Given the description of an element on the screen output the (x, y) to click on. 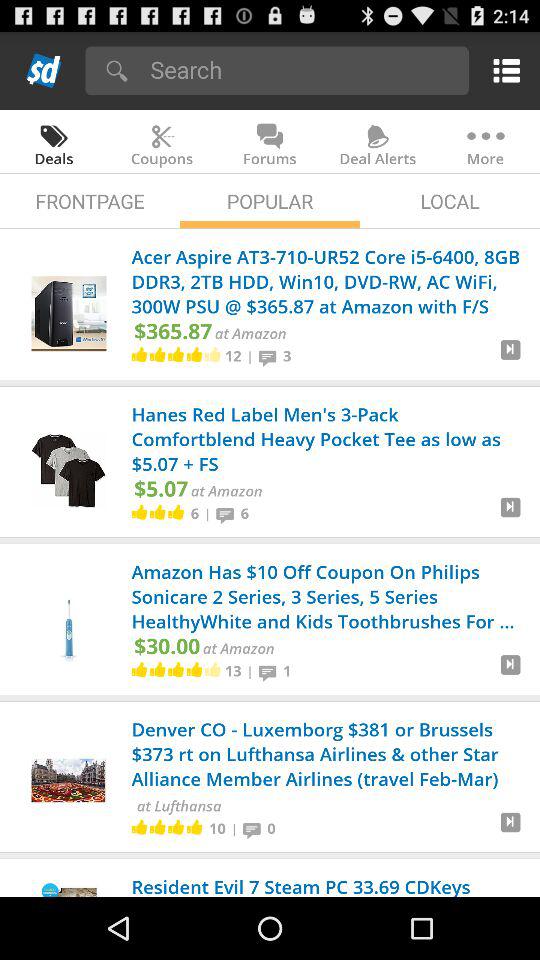
turn off app next to the 0 item (254, 828)
